Given the description of an element on the screen output the (x, y) to click on. 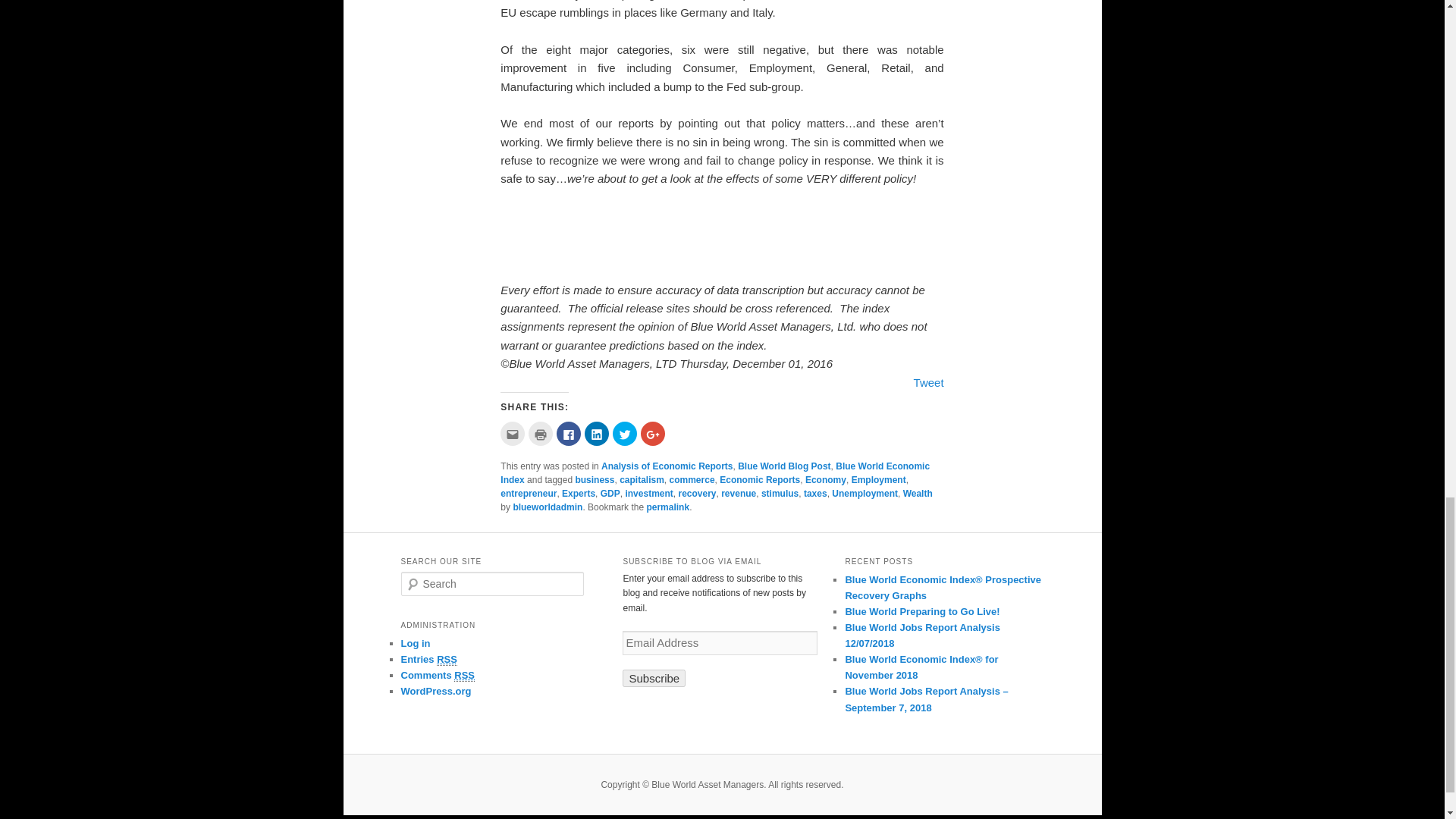
commerce (691, 480)
capitalism (641, 480)
Really Simple Syndication (446, 659)
Analysis of Economic Reports (666, 466)
stimulus (779, 493)
investment (648, 493)
Really Simple Syndication (464, 675)
Tweet (928, 382)
business (594, 480)
recovery (697, 493)
Blue World Blog Post (783, 466)
Subscribe (654, 678)
entrepreneur (528, 493)
Click to share on Facebook (568, 433)
